Given the description of an element on the screen output the (x, y) to click on. 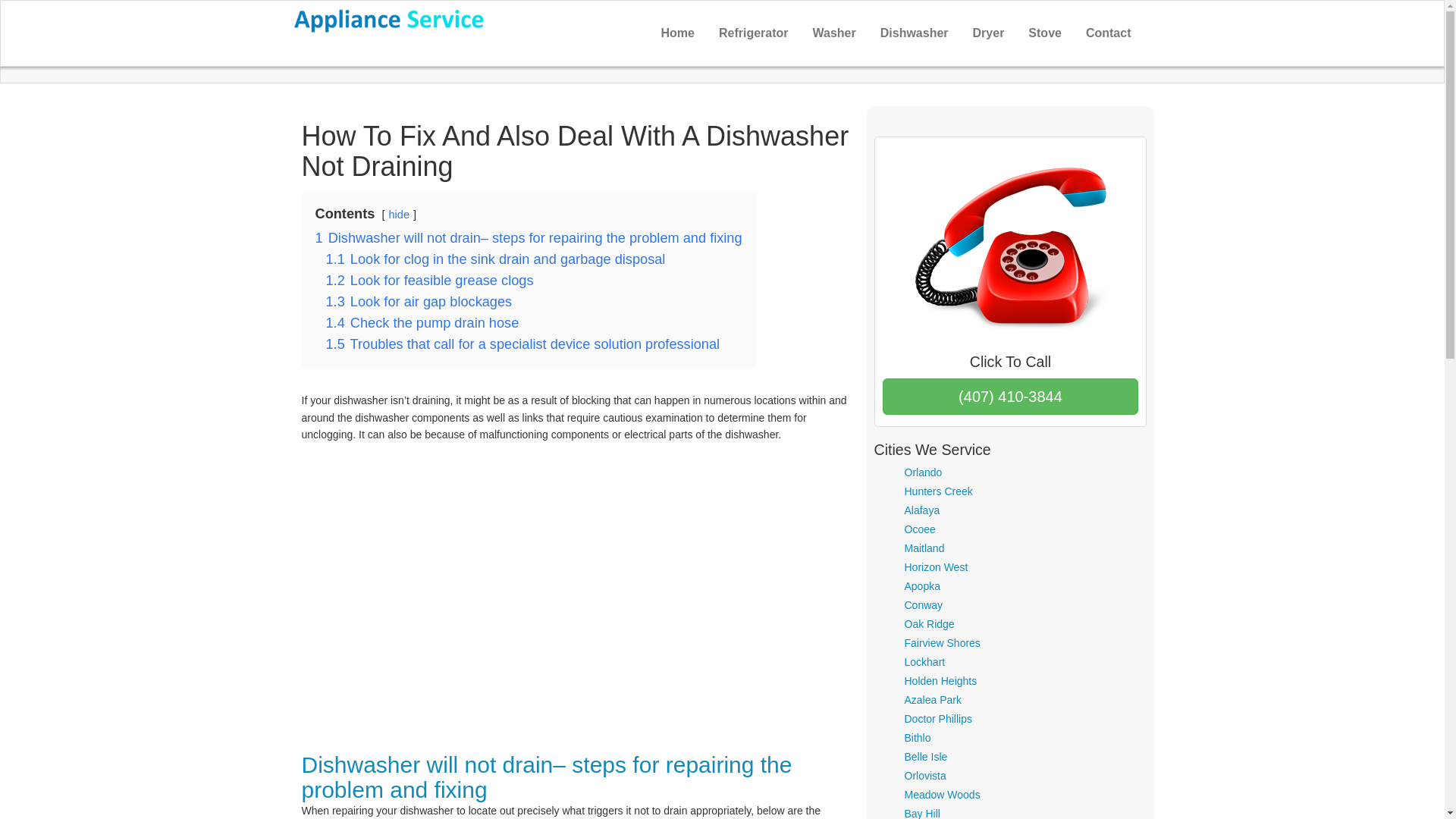
1.1 Look for clog in the sink drain and garbage disposal (495, 258)
Dishwasher (913, 33)
Home (677, 33)
Dryer (988, 33)
1.3 Look for air gap blockages (419, 301)
Contact (1108, 33)
1.4 Check the pump drain hose (422, 322)
Refrigerator (753, 33)
Stove (1045, 33)
Refrigerator (753, 33)
